Given the description of an element on the screen output the (x, y) to click on. 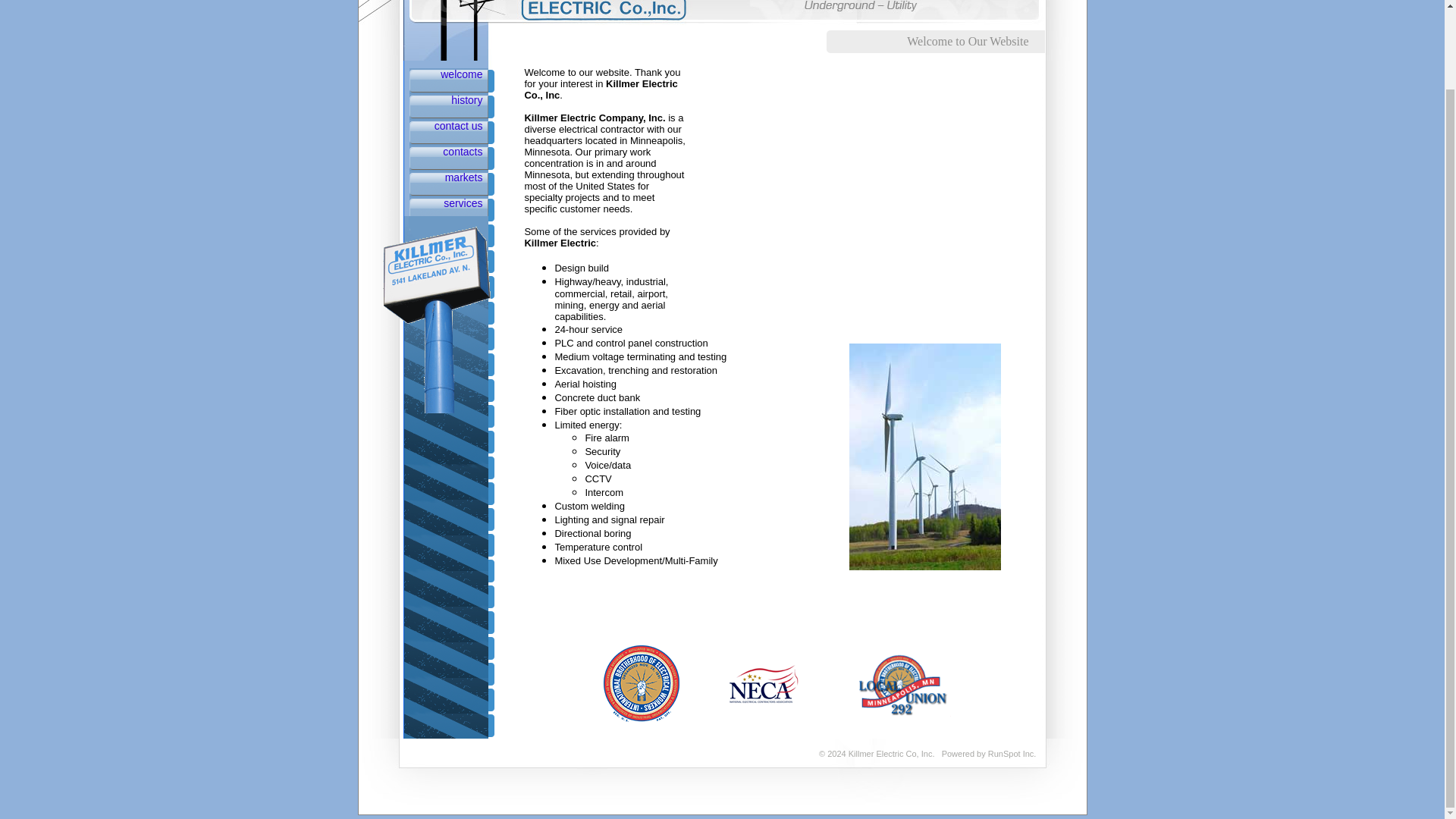
contact us (458, 125)
welcome (461, 73)
history (466, 100)
markets (464, 177)
services (462, 203)
contacts (461, 151)
Powered by RunSpot Inc. (989, 753)
